Given the description of an element on the screen output the (x, y) to click on. 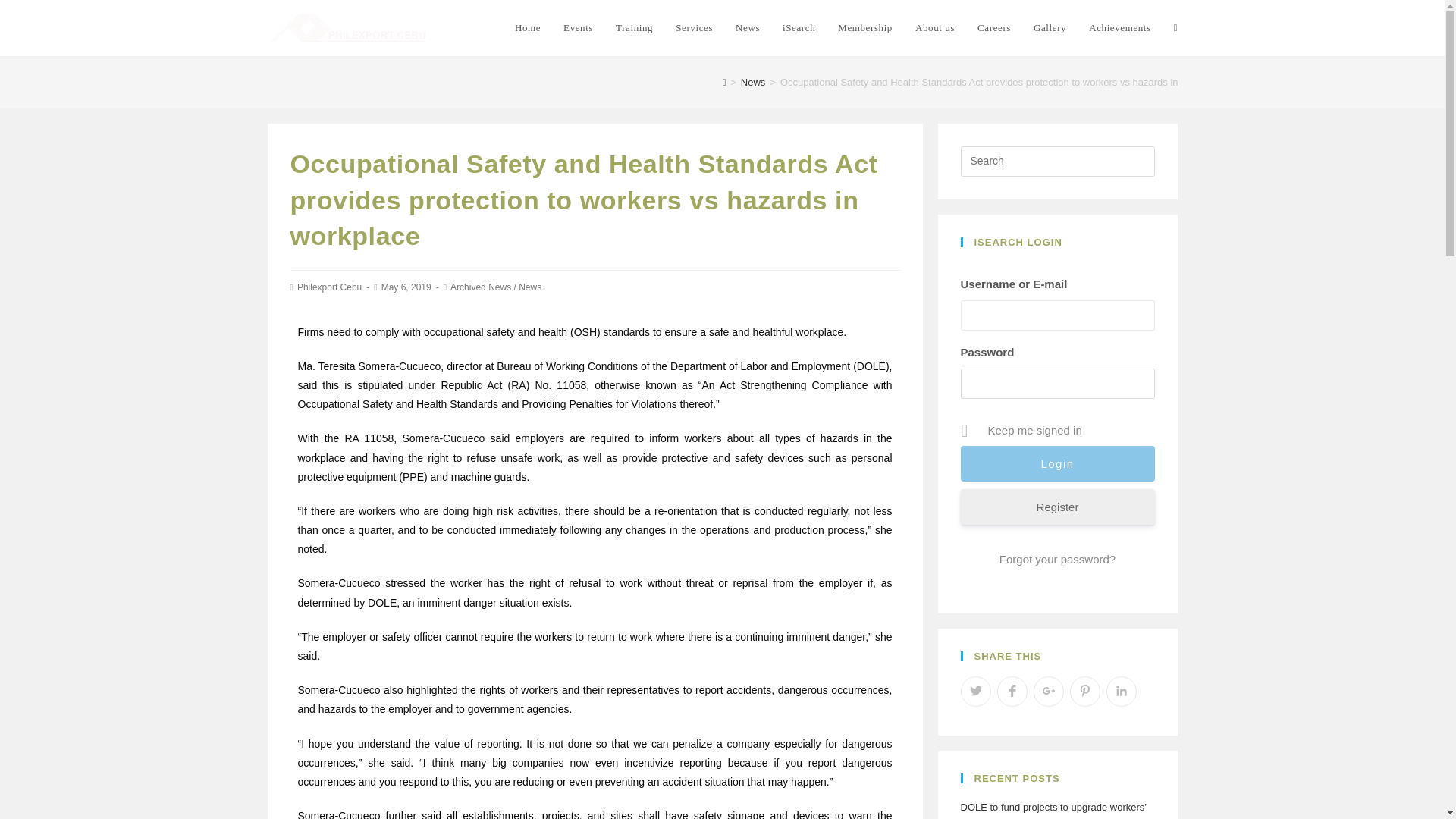
Share on Pinterest (1083, 691)
Posts by Philexport Cebu (329, 286)
Events (577, 28)
Share on LinkedIn (1120, 691)
Training (633, 28)
Login (1056, 463)
iSearch (799, 28)
Services (693, 28)
Share on Twitter (974, 691)
Share on Facebook (1010, 691)
